Given the description of an element on the screen output the (x, y) to click on. 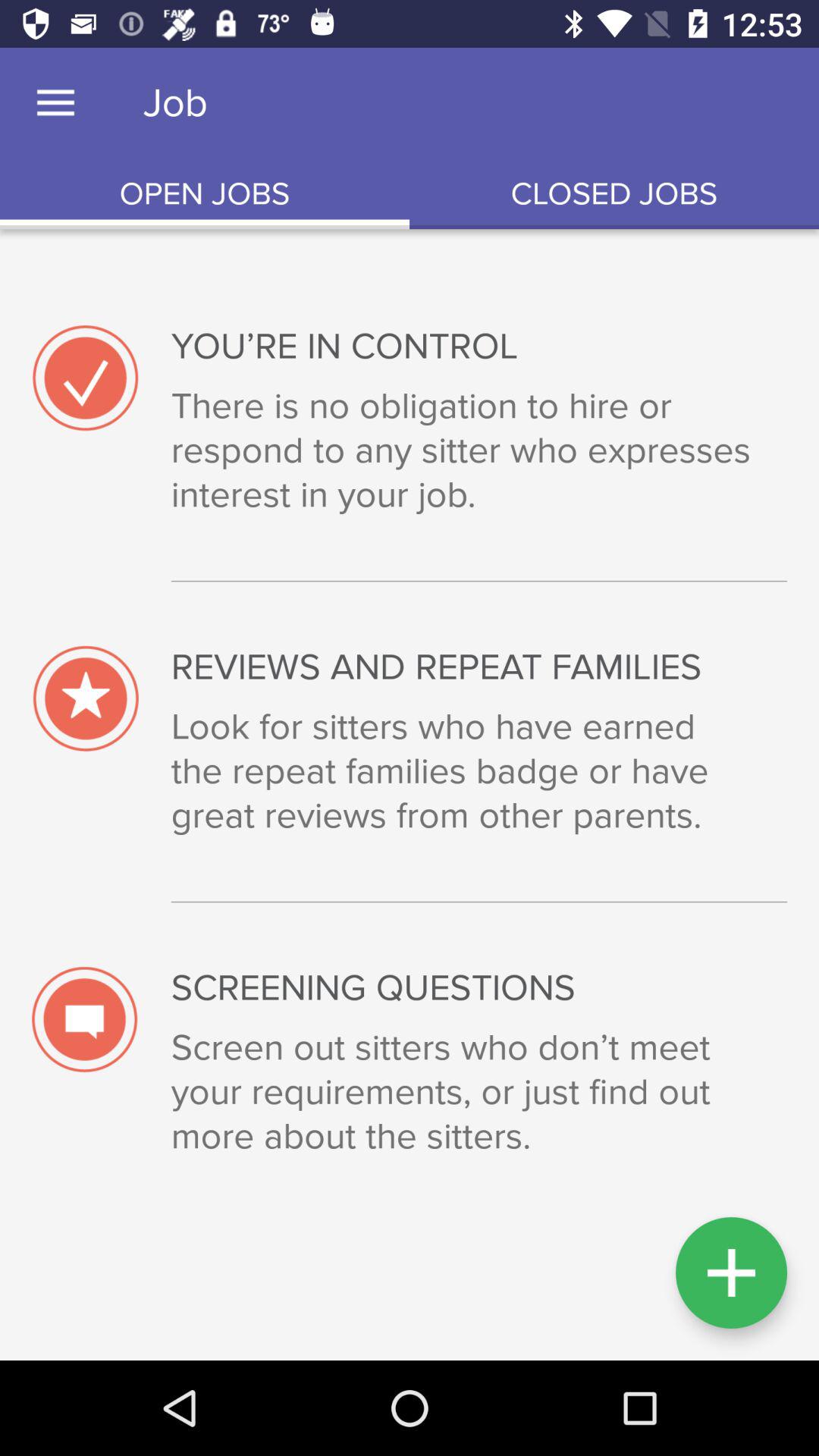
press the icon to the right of open jobs icon (614, 194)
